Given the description of an element on the screen output the (x, y) to click on. 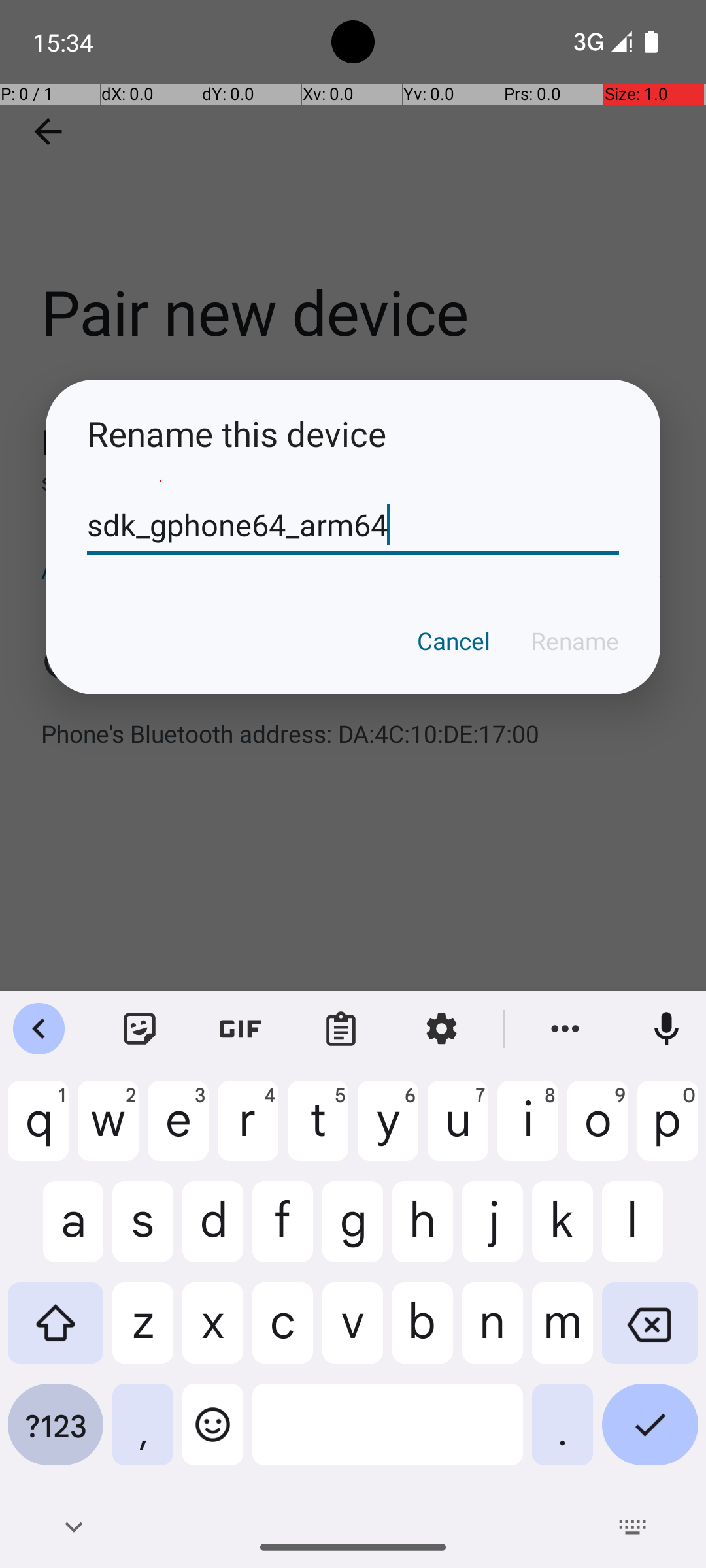
Rename this device Element type: android.widget.TextView (352, 433)
Rename Element type: android.widget.Button (574, 640)
